Given the description of an element on the screen output the (x, y) to click on. 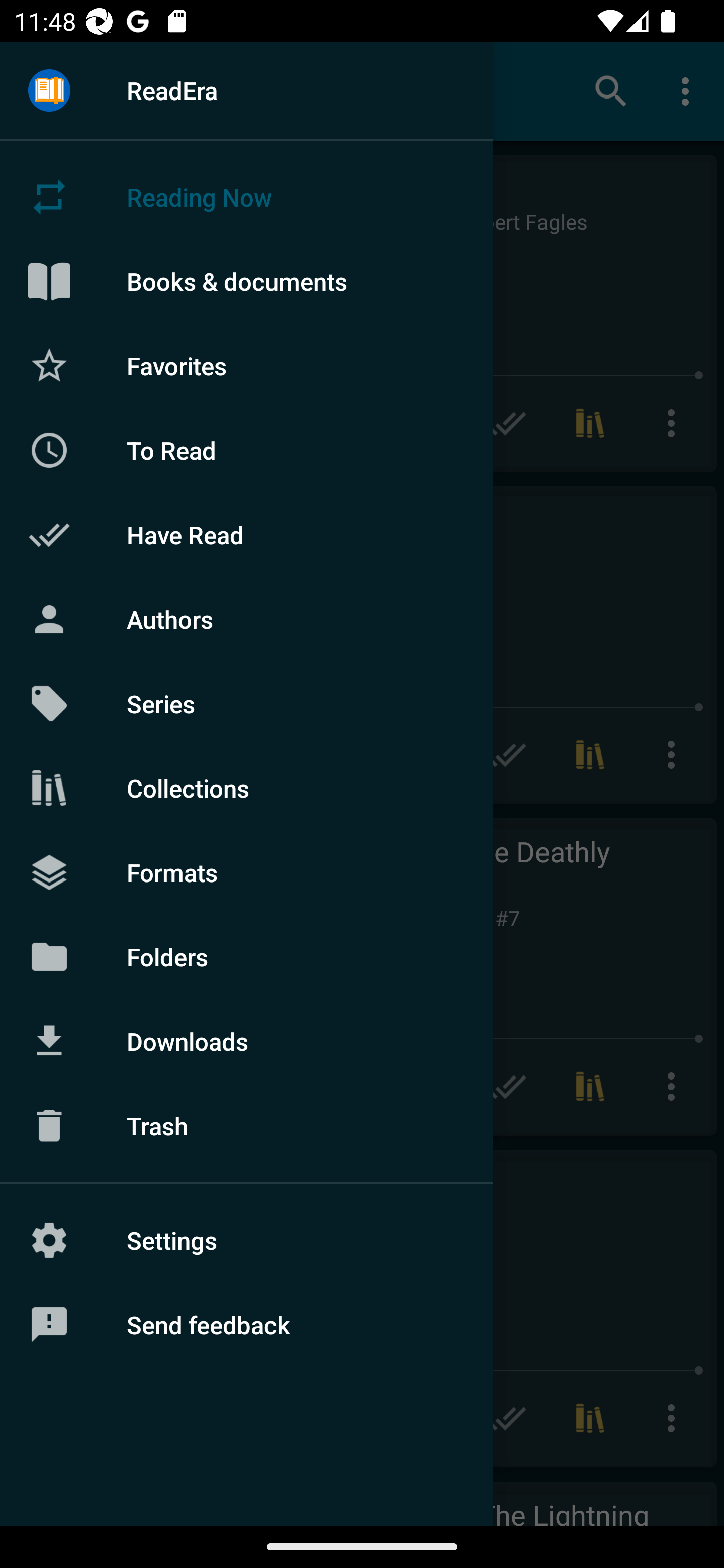
Menu (49, 91)
ReadEra (246, 89)
Search books & documents (611, 90)
More options (688, 90)
Reading Now (246, 197)
Books & documents (246, 281)
Favorites (246, 365)
To Read (246, 449)
Have Read (246, 534)
Authors (246, 619)
Series (246, 703)
Collections (246, 787)
Formats (246, 871)
Folders (246, 956)
Downloads (246, 1040)
Trash (246, 1125)
Settings (246, 1239)
Send feedback (246, 1324)
